Given the description of an element on the screen output the (x, y) to click on. 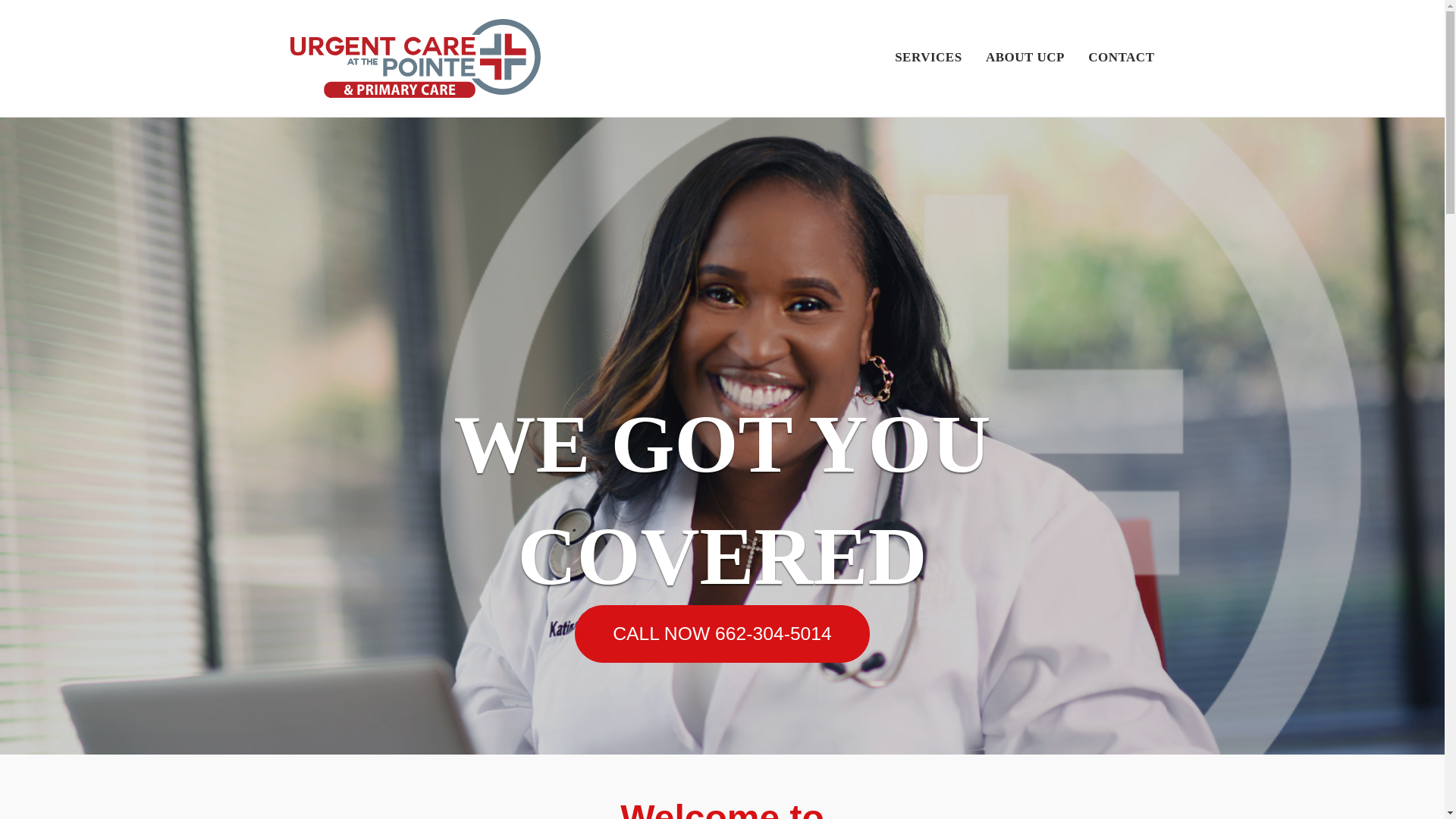
CONTACT (1120, 59)
ABOUT UCP (1024, 59)
SERVICES (928, 59)
CALL NOW 662-304-5014 (722, 633)
